Given the description of an element on the screen output the (x, y) to click on. 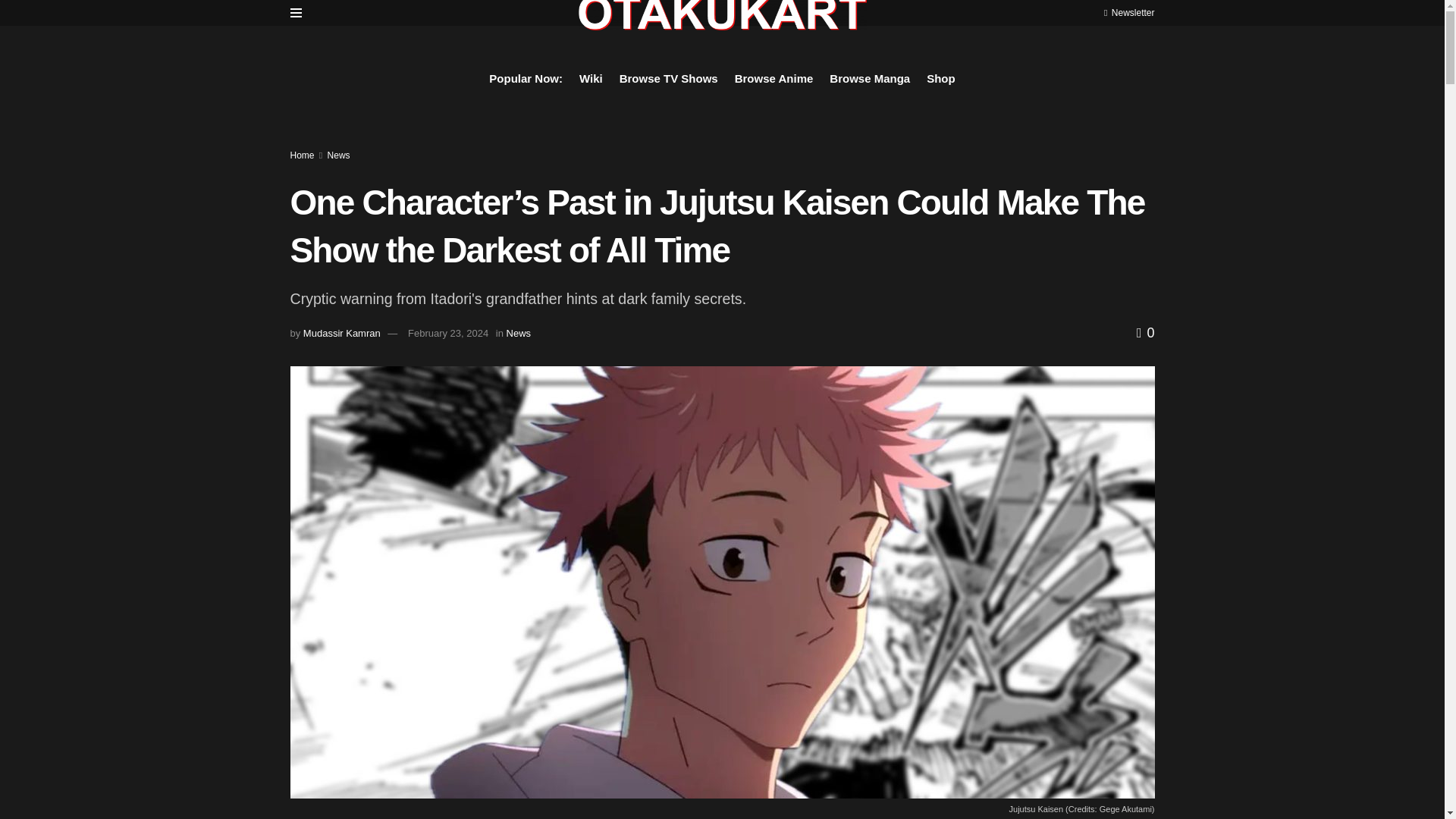
0 (1145, 332)
February 23, 2024 (447, 333)
Mudassir Kamran (341, 333)
Newsletter (1128, 12)
Browse Manga (869, 78)
Browse TV Shows (668, 78)
News (338, 154)
Popular Now: (525, 78)
News (518, 333)
Browse Anime (774, 78)
Home (301, 154)
